Given the description of an element on the screen output the (x, y) to click on. 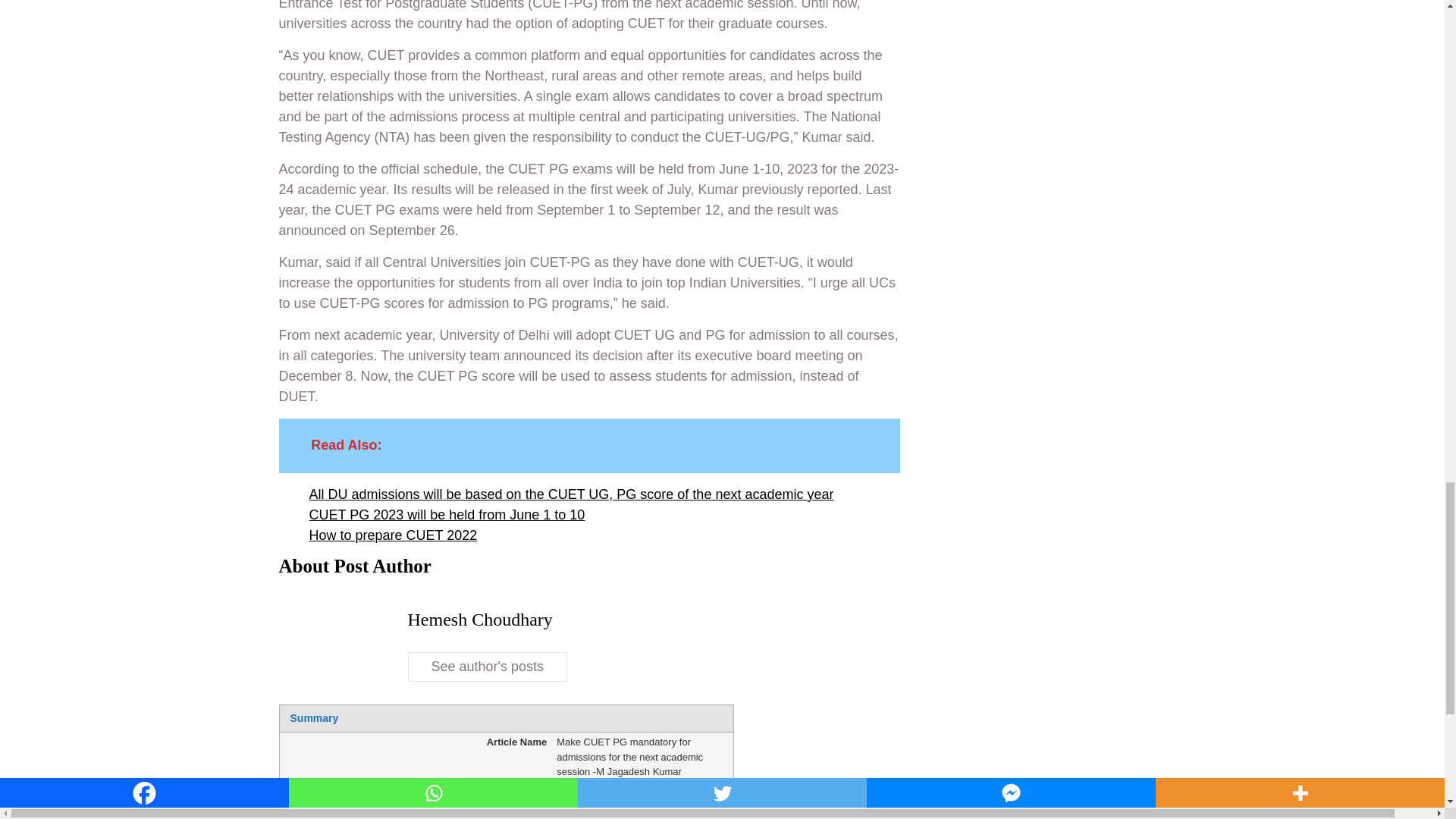
Hemesh Choudhary (480, 618)
See author's posts (487, 666)
CUET PG 2023 will be held from June 1 to 10 (446, 515)
How to prepare CUET 2022 (392, 534)
